Given the description of an element on the screen output the (x, y) to click on. 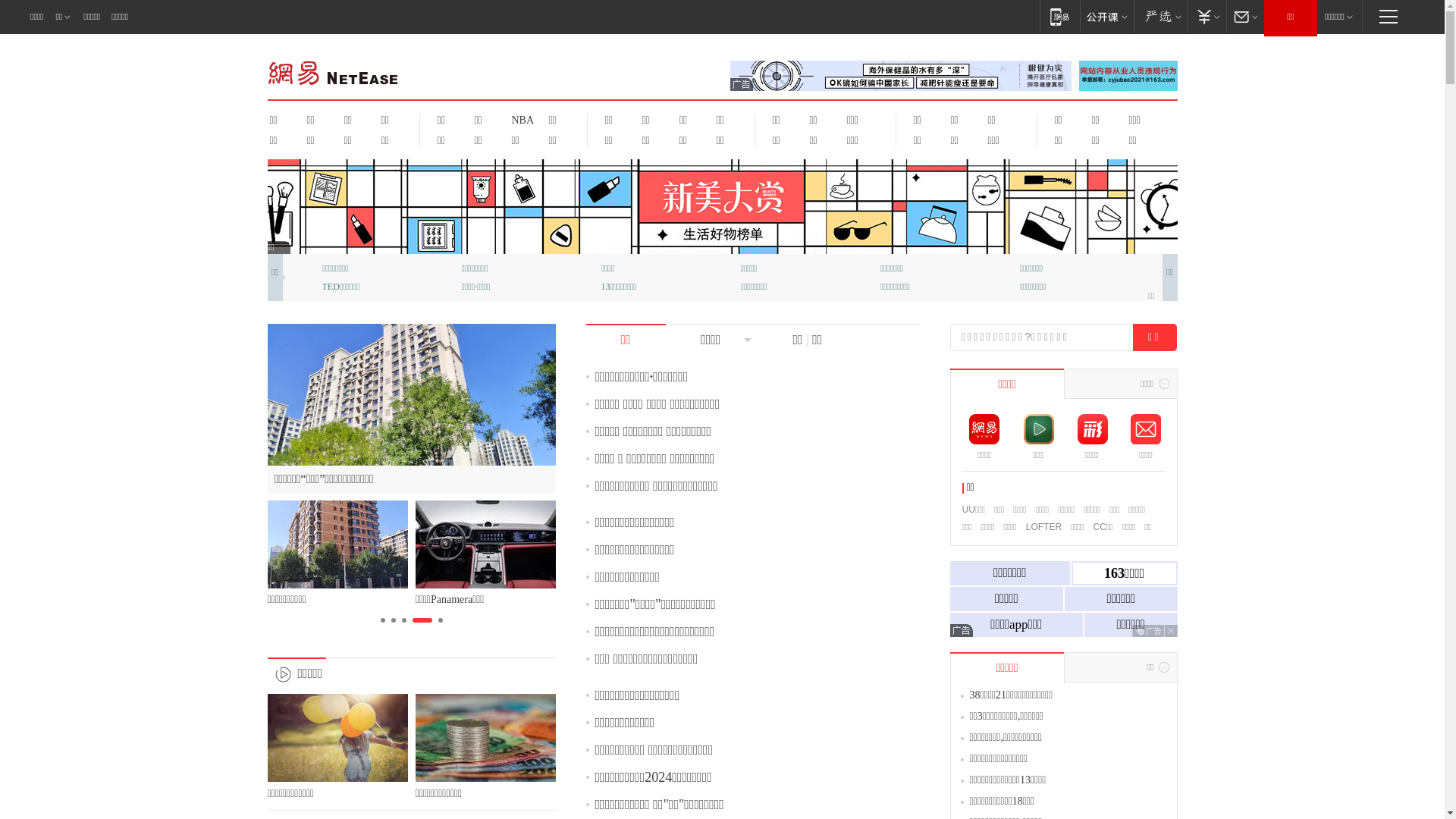
LOFTER Element type: text (1043, 526)
NBA Element type: text (520, 119)
